Given the description of an element on the screen output the (x, y) to click on. 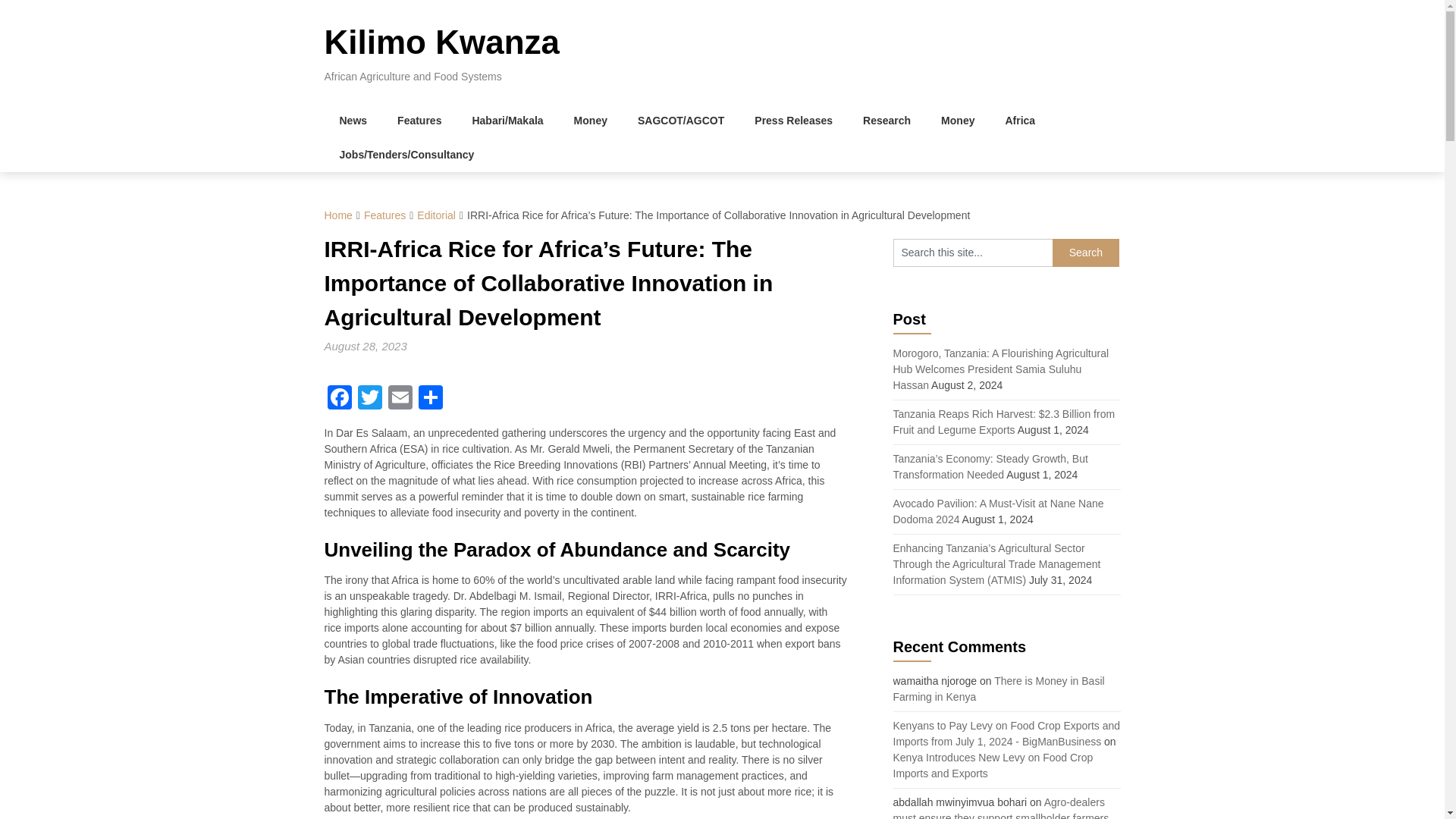
Email (399, 398)
Search (1085, 252)
Search (1085, 252)
Twitter (370, 398)
Features (419, 121)
Avocado Pavilion: A Must-Visit at Nane Nane Dodoma 2024 (998, 511)
Africa (1019, 121)
Home (338, 215)
Press Releases (793, 121)
